Given the description of an element on the screen output the (x, y) to click on. 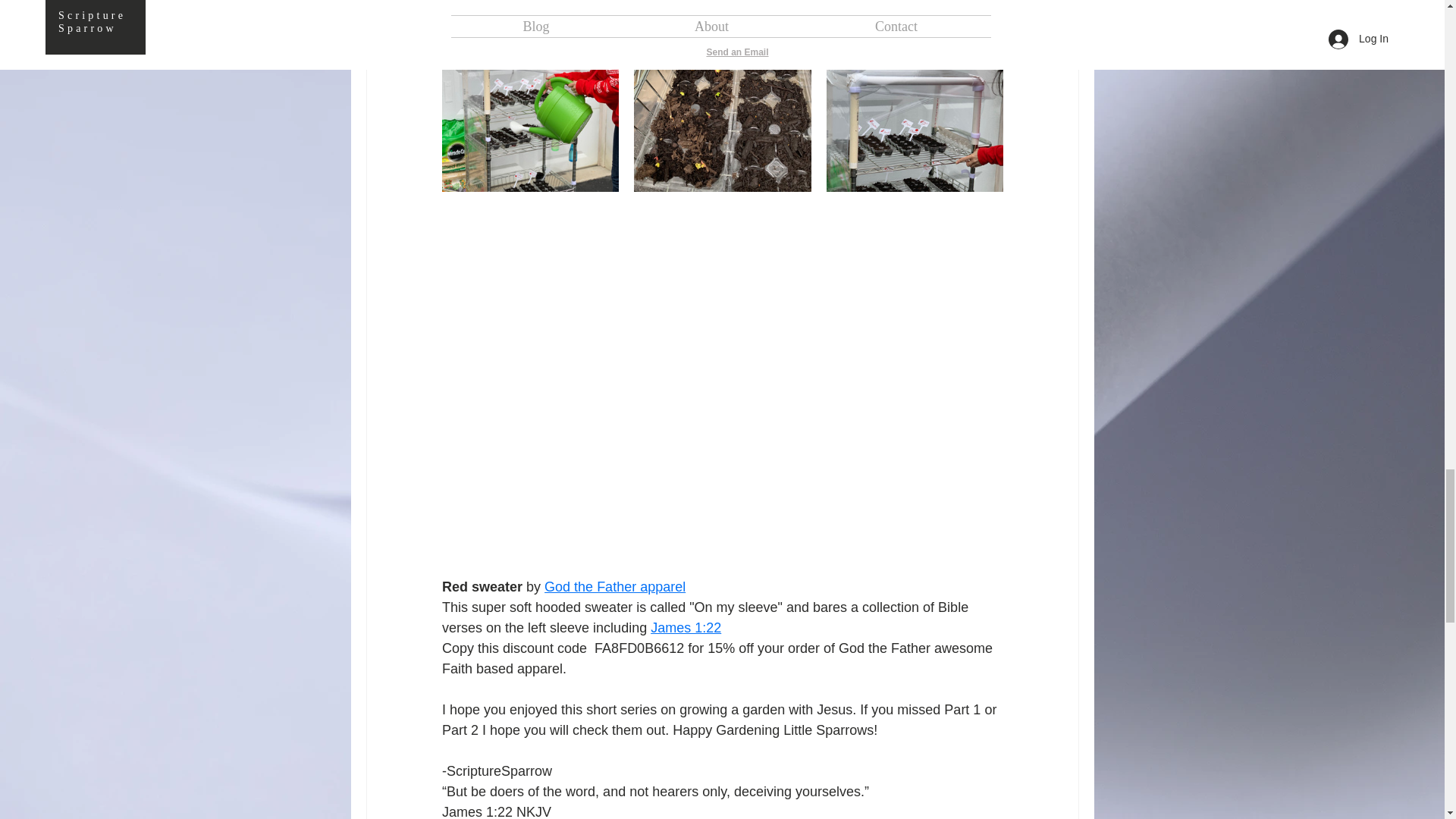
James 1:22 (685, 627)
God the Father apparel (614, 586)
